Given the description of an element on the screen output the (x, y) to click on. 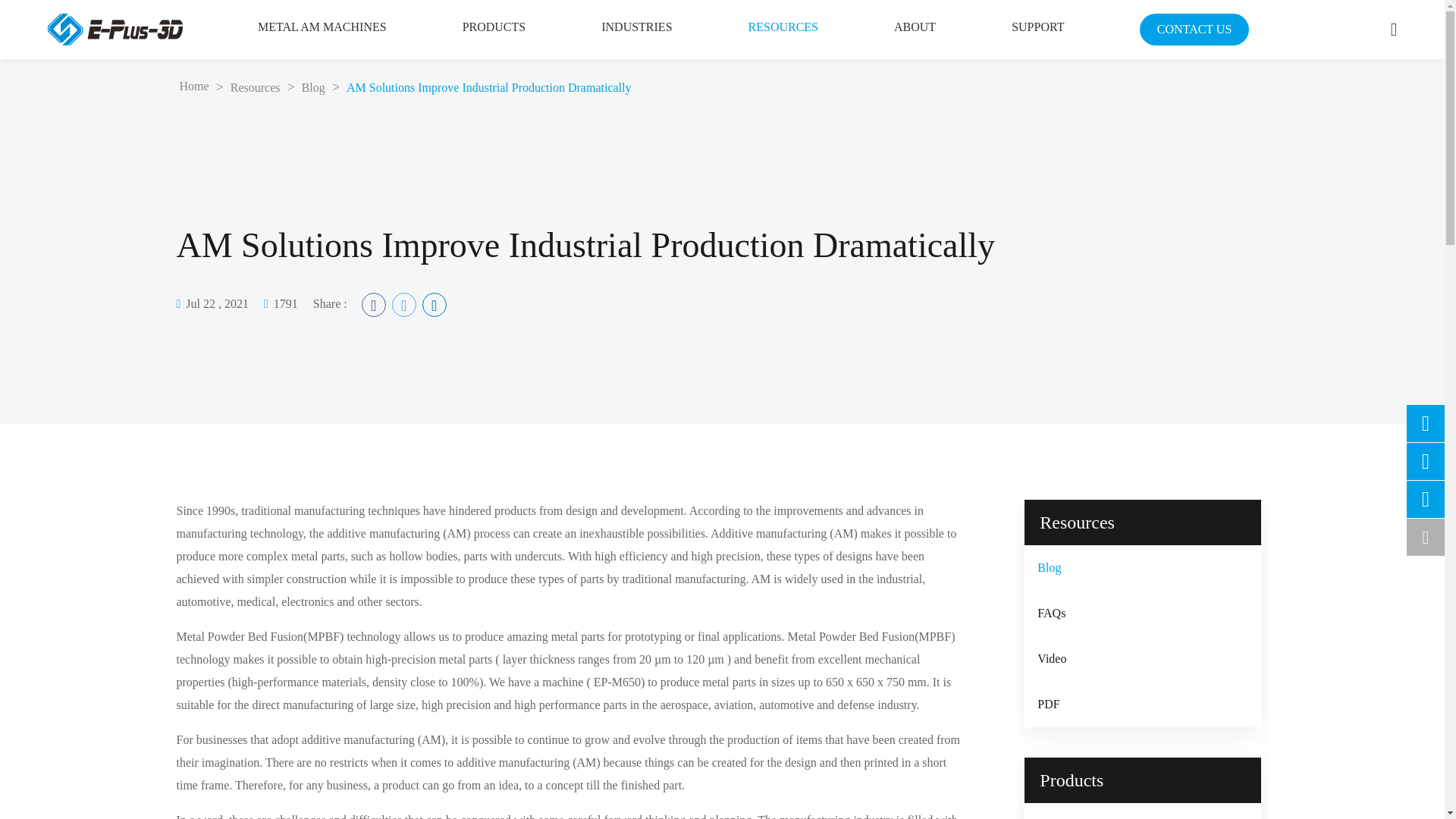
Blog (312, 87)
METAL AM MACHINES (322, 29)
INDUSTRIES (636, 26)
AM Solutions Improve Industrial Production Dramatically (488, 87)
ABOUT (914, 26)
Eplus3D (114, 29)
RESOURCES (783, 26)
PRODUCTS (494, 26)
Resources (255, 87)
